Given the description of an element on the screen output the (x, y) to click on. 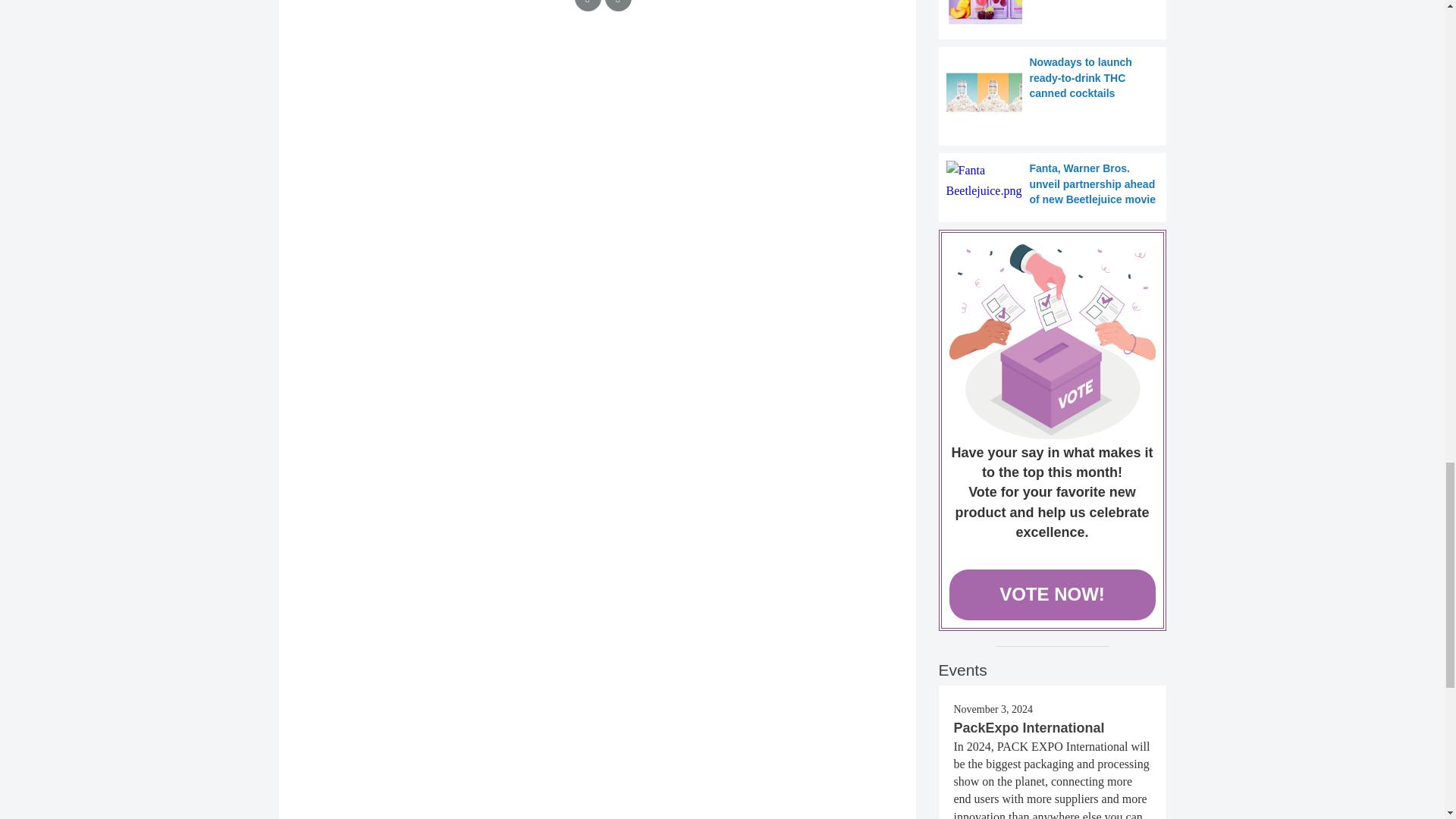
PackExpo International (1029, 727)
Nowadays to launch ready-to-drink THC canned cocktails (1052, 92)
Vote (1052, 341)
